Given the description of an element on the screen output the (x, y) to click on. 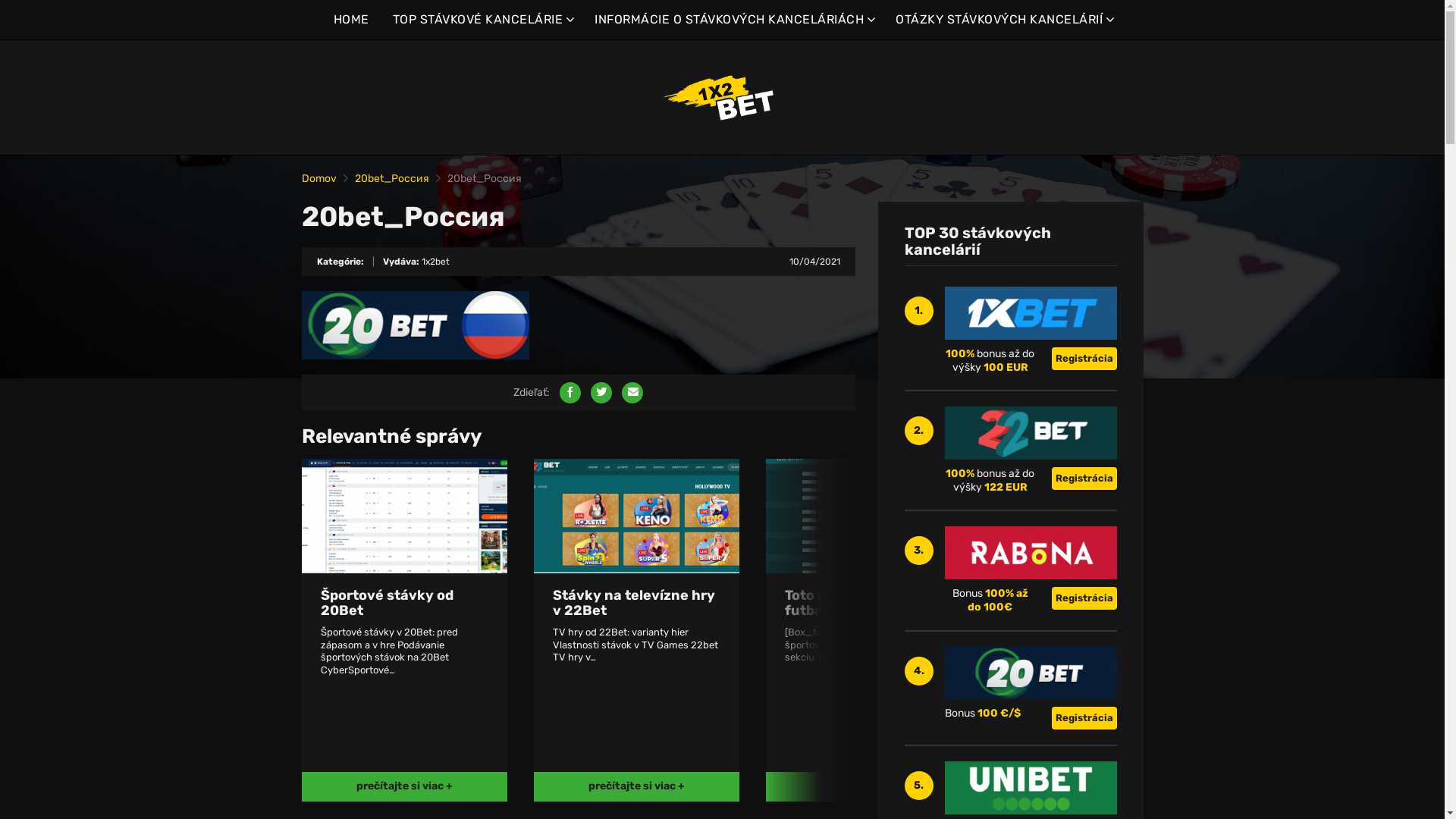
Share by email Element type: hover (632, 392)
HOME Element type: text (351, 19)
Share on Facebook Element type: hover (569, 392)
Domov Element type: text (318, 178)
Share on Twitter Element type: hover (600, 392)
